Given the description of an element on the screen output the (x, y) to click on. 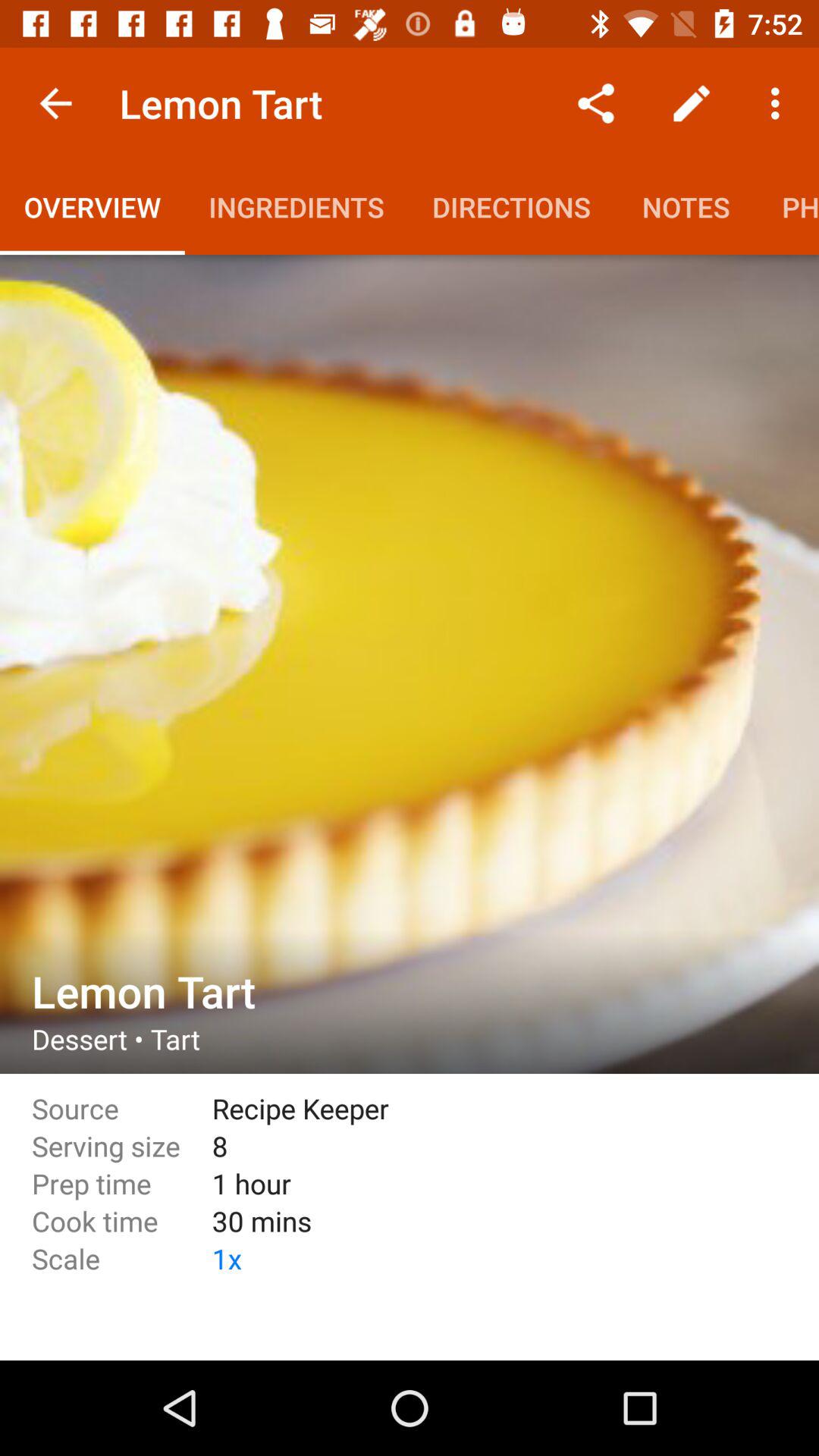
press item next to lemon tart icon (55, 103)
